Given the description of an element on the screen output the (x, y) to click on. 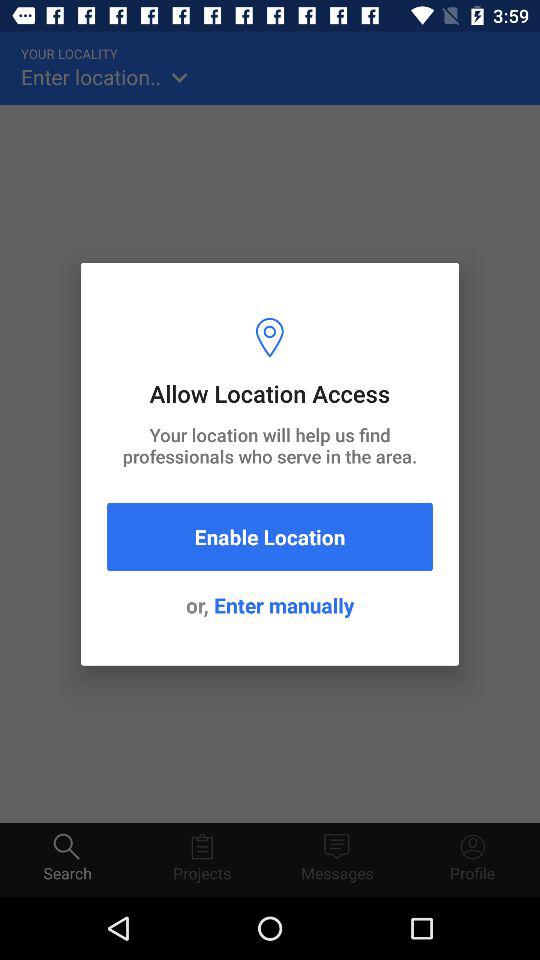
swipe to or, enter manually (269, 605)
